Given the description of an element on the screen output the (x, y) to click on. 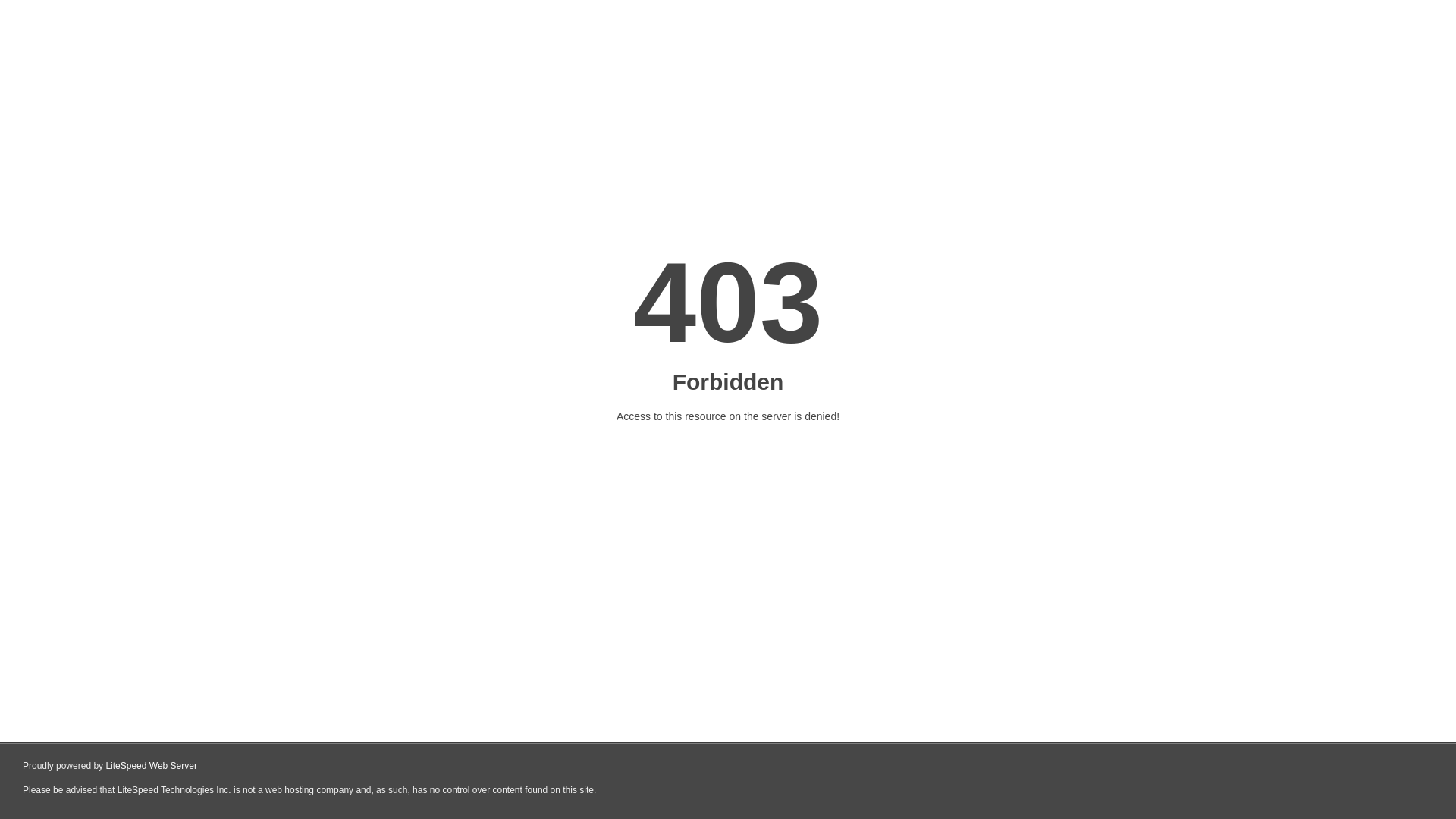
LiteSpeed Web Server Element type: text (151, 765)
